Given the description of an element on the screen output the (x, y) to click on. 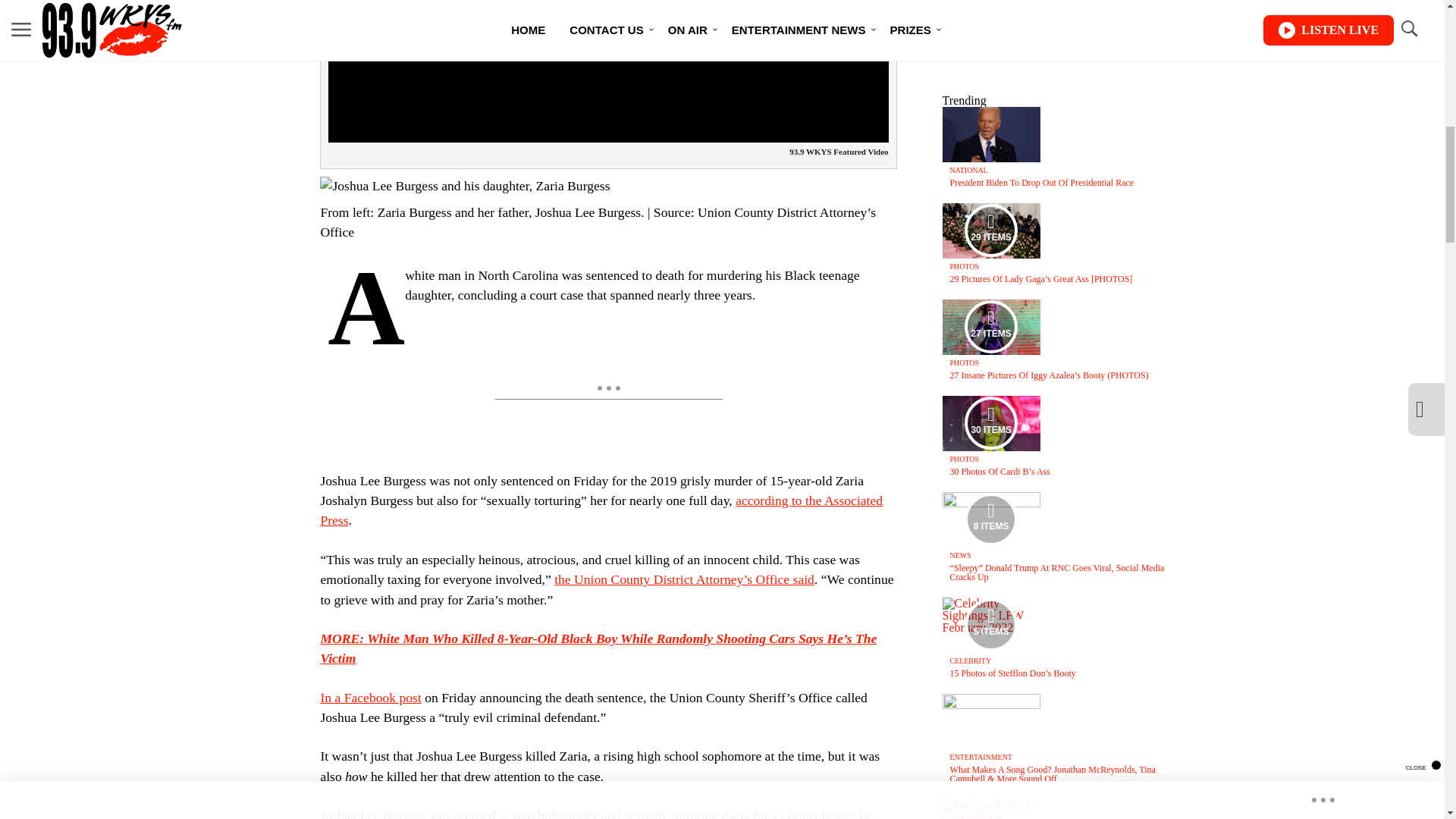
Media Playlist (990, 624)
In a Facebook post (370, 697)
Media Playlist (990, 230)
Media Playlist (990, 519)
Media Playlist (990, 326)
Media Playlist (990, 422)
according to the Associated Press (601, 510)
